Given the description of an element on the screen output the (x, y) to click on. 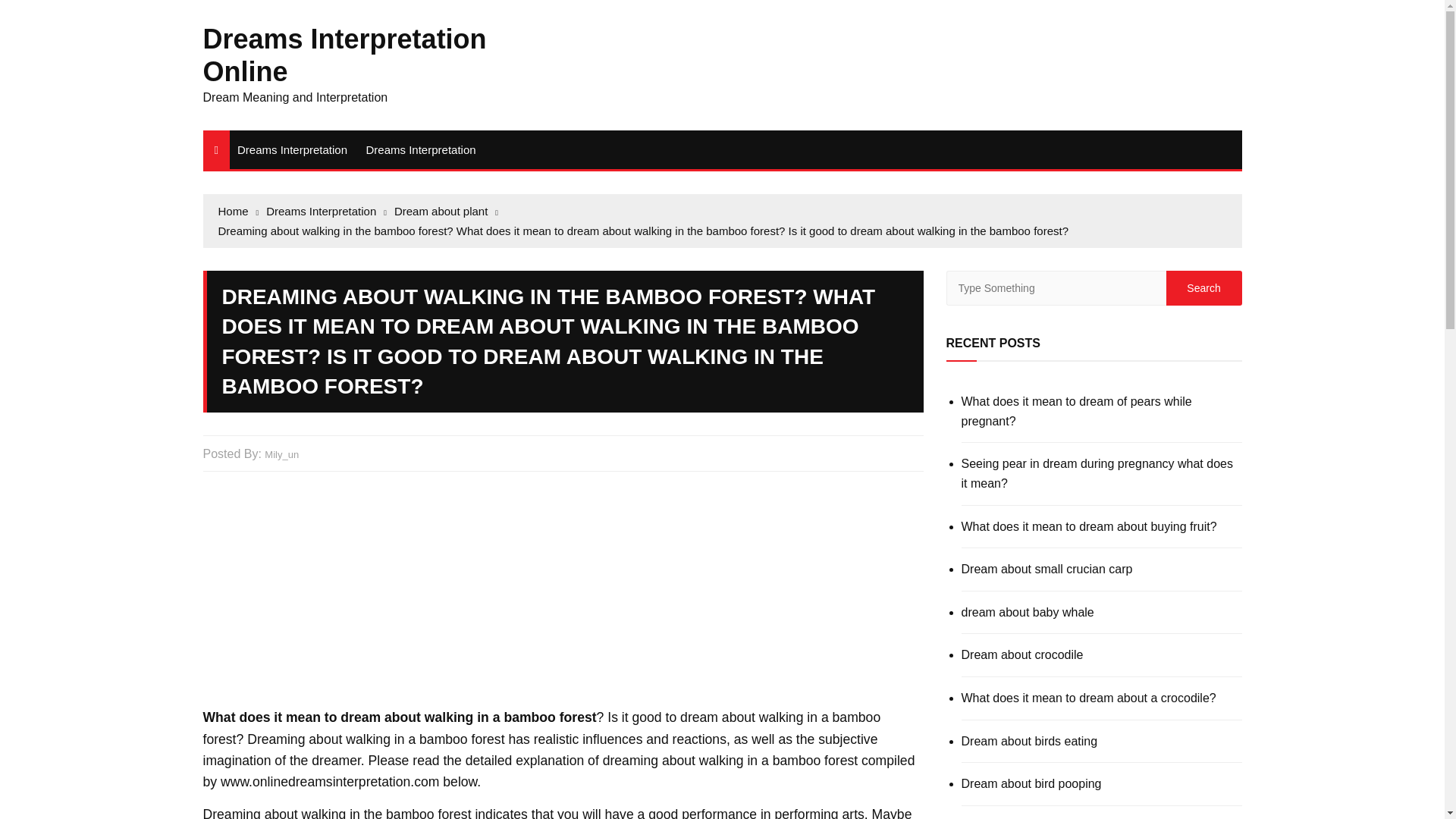
Dreams Interpretation (420, 149)
Dreams Interpretation Online (344, 54)
Dreams Interpretation (292, 149)
Search (1203, 288)
